Given the description of an element on the screen output the (x, y) to click on. 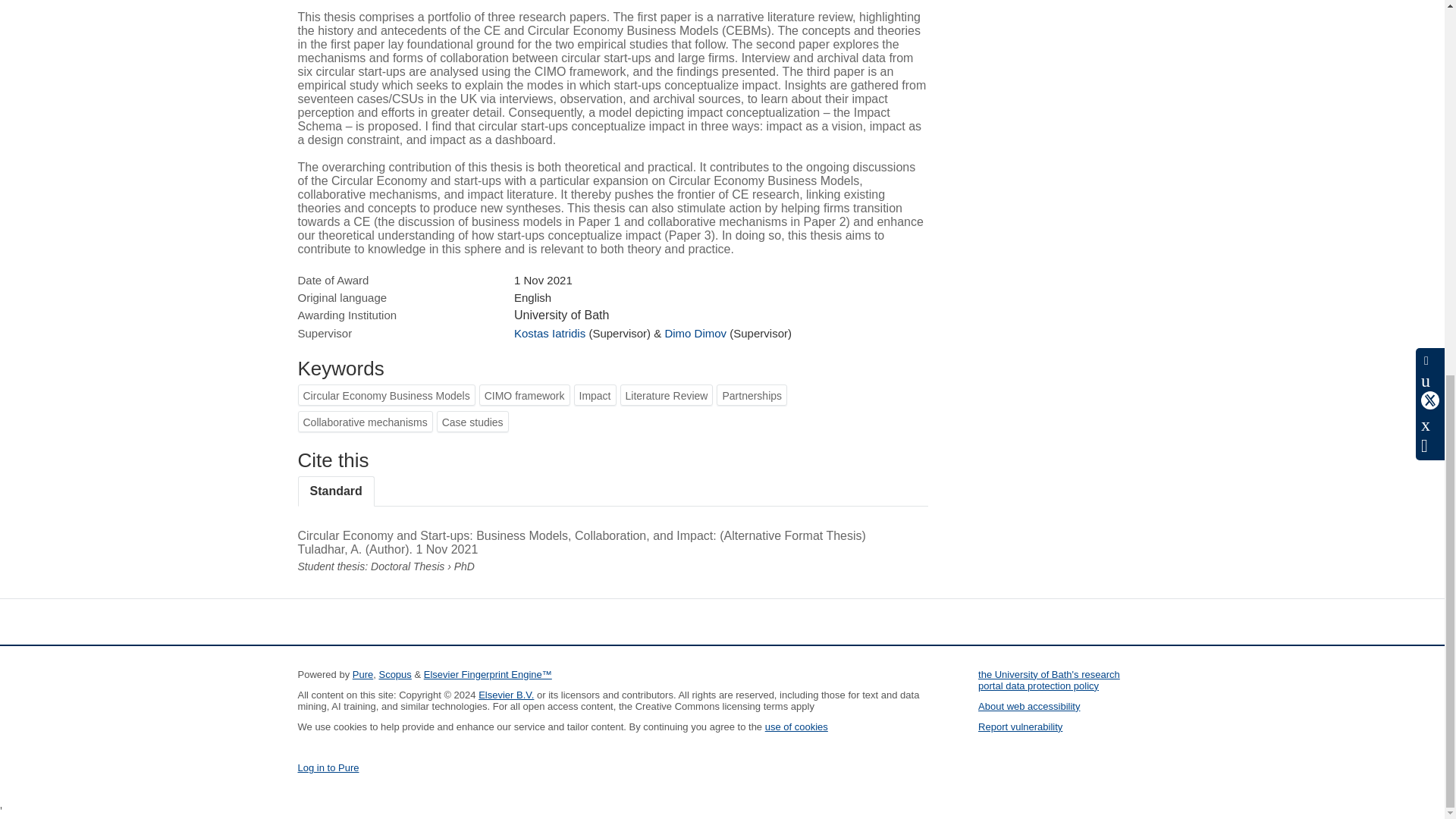
Report vulnerability (1020, 726)
Dimo Dimov (694, 332)
Log in to Pure (327, 767)
use of cookies (796, 726)
About web accessibility (1029, 706)
Elsevier B.V. (506, 695)
Kostas Iatridis (549, 332)
Scopus (394, 674)
Pure (362, 674)
